Given the description of an element on the screen output the (x, y) to click on. 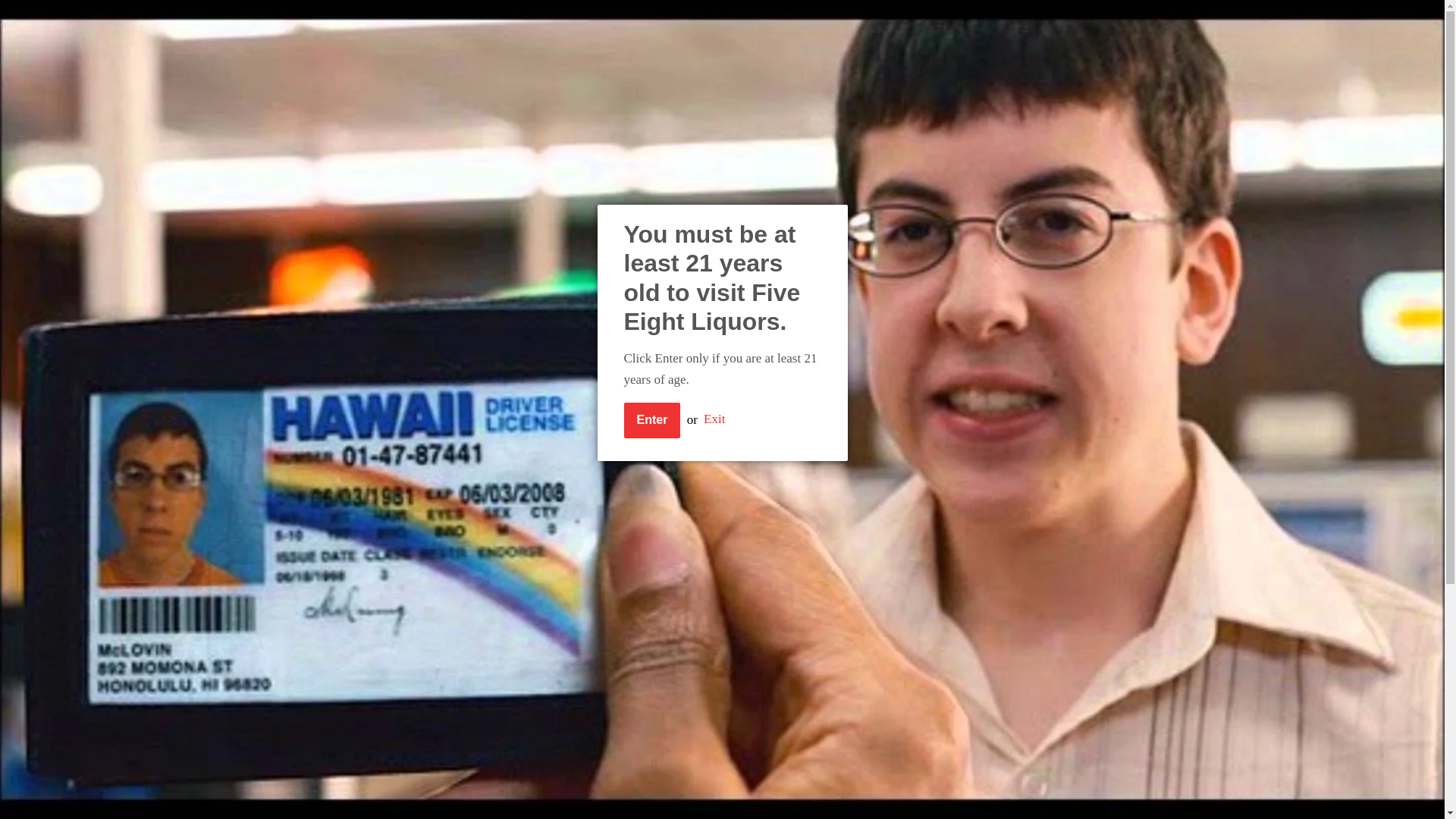
Back to the frontpage (370, 163)
Search (980, 18)
Enter (651, 420)
Cart (940, 18)
Create account (858, 18)
Exit (714, 419)
Log in (778, 18)
